Given the description of an element on the screen output the (x, y) to click on. 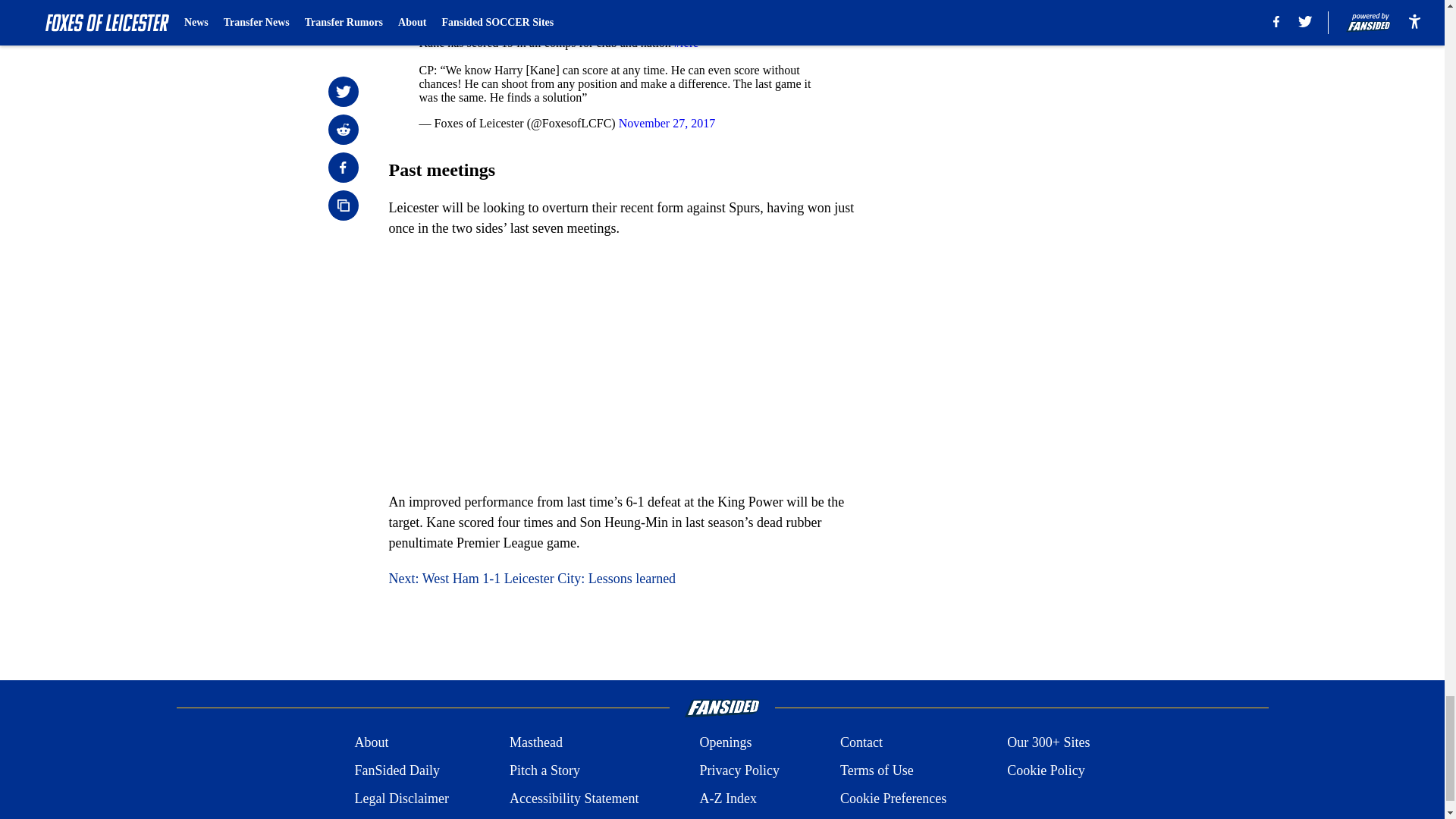
Cookie Policy (1045, 770)
Contact (861, 742)
About (370, 742)
Terms of Use (877, 770)
Legal Disclaimer (400, 798)
November 27, 2017 (667, 123)
Next: West Ham 1-1 Leicester City: Lessons learned (531, 578)
Openings (724, 742)
Privacy Policy (738, 770)
FanSided Daily (396, 770)
Cookie Preferences (893, 798)
Pitch a Story (544, 770)
Masthead (535, 742)
Accessibility Statement (574, 798)
A-Z Index (726, 798)
